Given the description of an element on the screen output the (x, y) to click on. 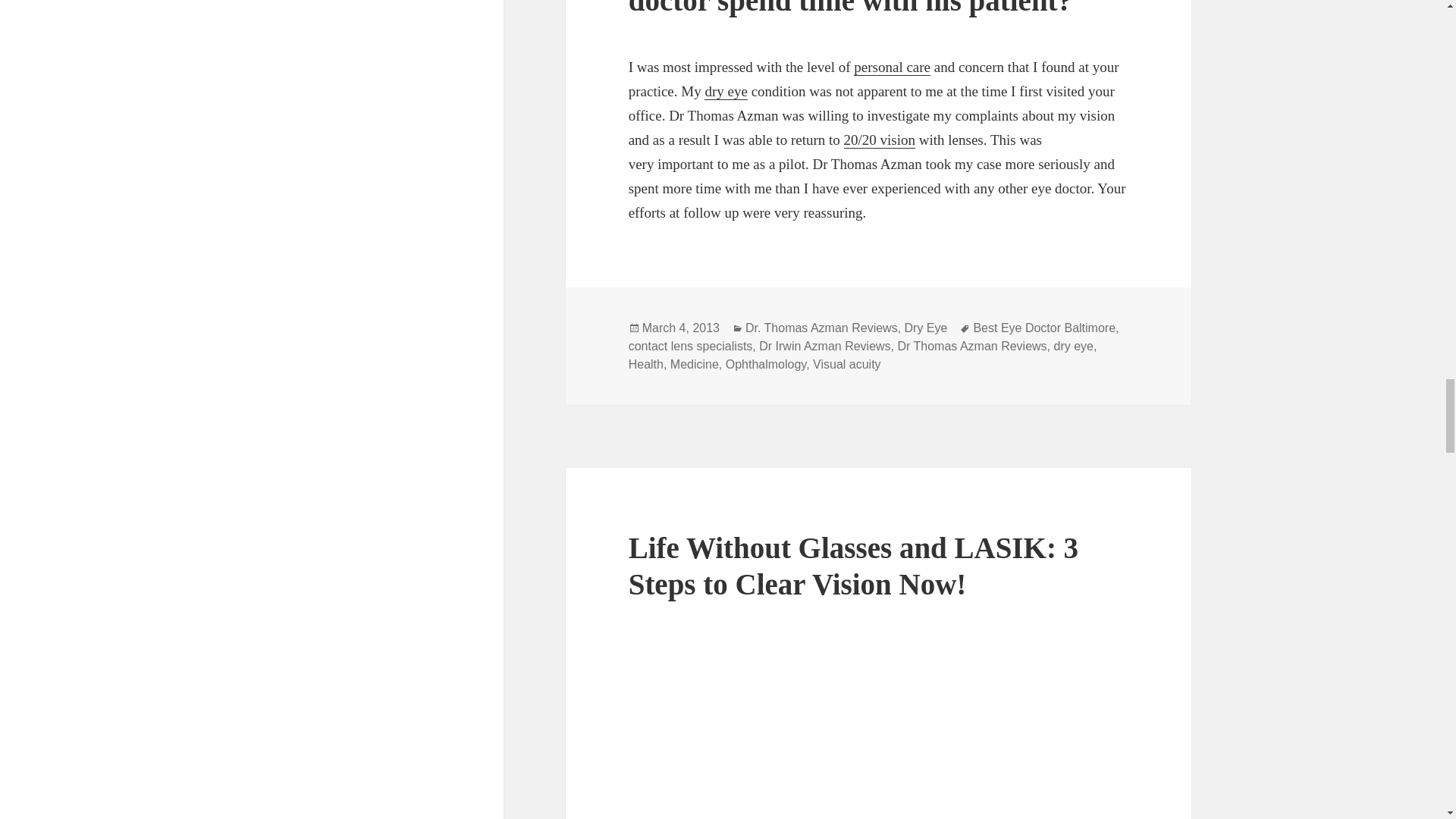
Visual acuity (879, 139)
Personal care (891, 67)
Keratoconjunctivitis sicca (725, 91)
